Given the description of an element on the screen output the (x, y) to click on. 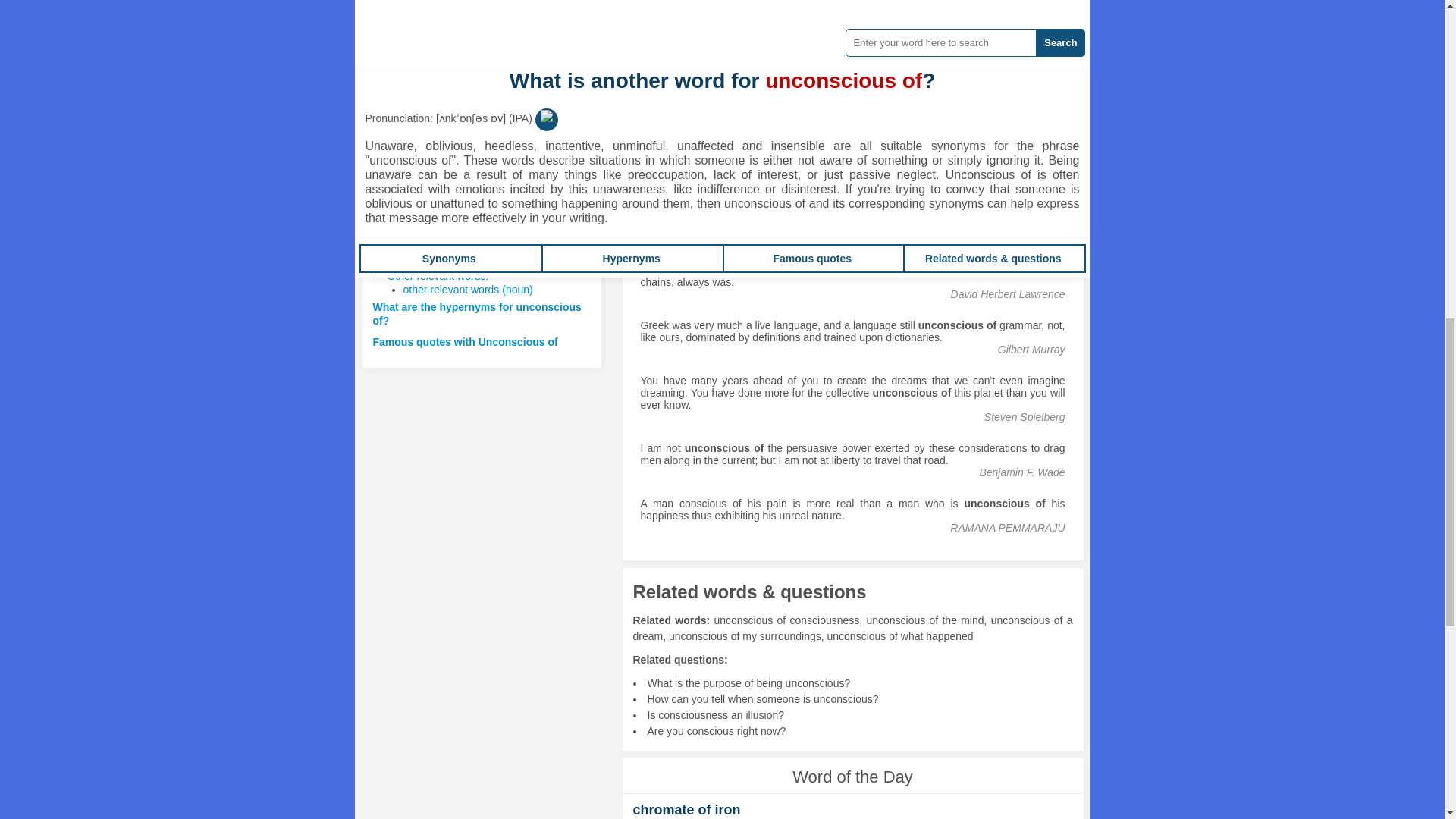
What is another word for unconscious of? (479, 233)
Synonyms for Unconscious of (683, 31)
ignorant of (810, 181)
Famous quotes with Unconscious of (464, 341)
Other relevant words: (437, 275)
unmindful of (750, 181)
What are the hypernyms for unconscious of? (476, 313)
unaware of (688, 181)
mindless (683, 31)
